Given the description of an element on the screen output the (x, y) to click on. 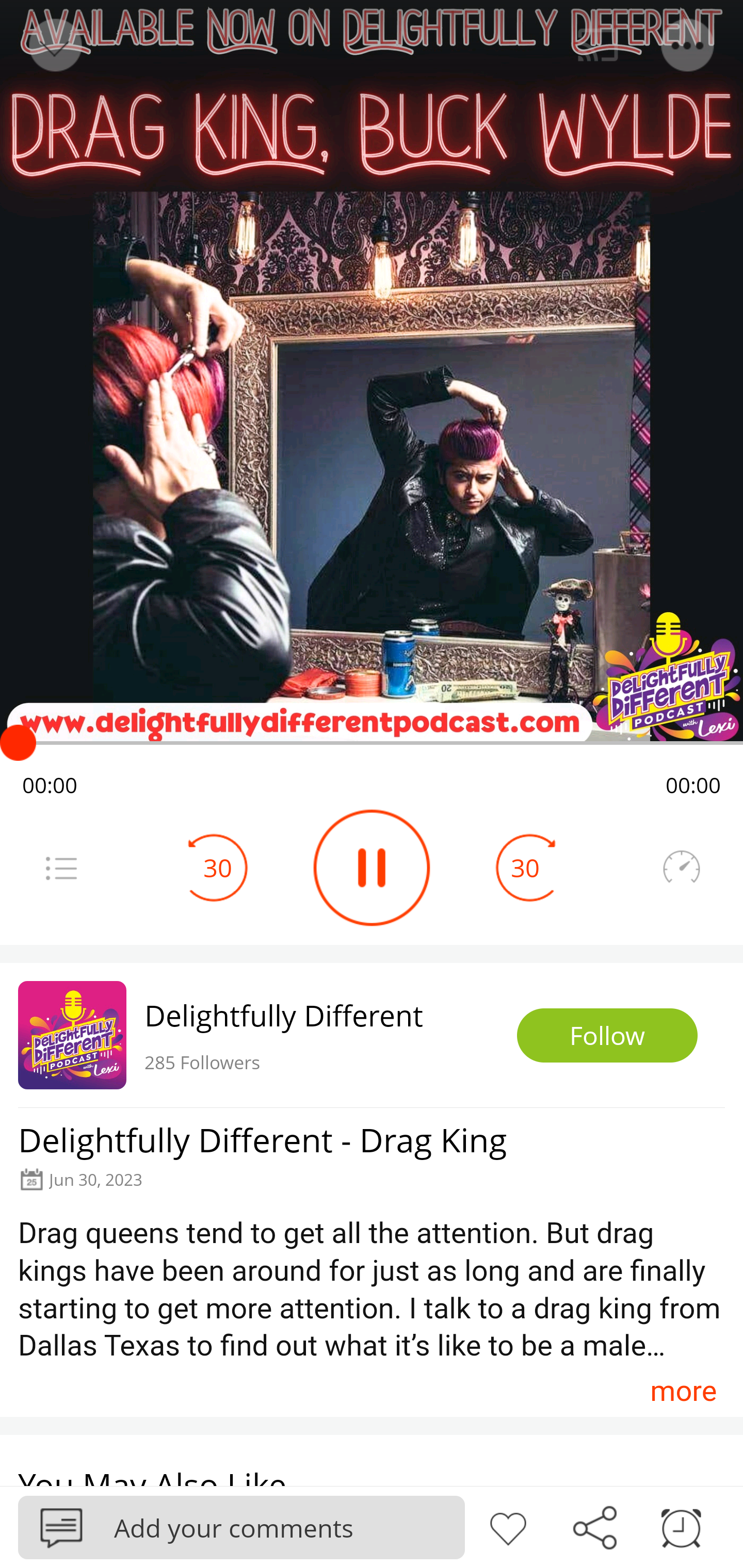
Back (53, 45)
Cast. Disconnected (597, 45)
Menu (688, 45)
30 Seek Backward (217, 867)
30 Seek Forward (525, 867)
Menu (60, 867)
Speedometer (681, 867)
Delightfully Different 285 Followers Follow (371, 1034)
Follow (607, 1035)
more (682, 1390)
Like (508, 1526)
Share (594, 1526)
Sleep timer (681, 1526)
Podbean Add your comments (241, 1526)
